Given the description of an element on the screen output the (x, y) to click on. 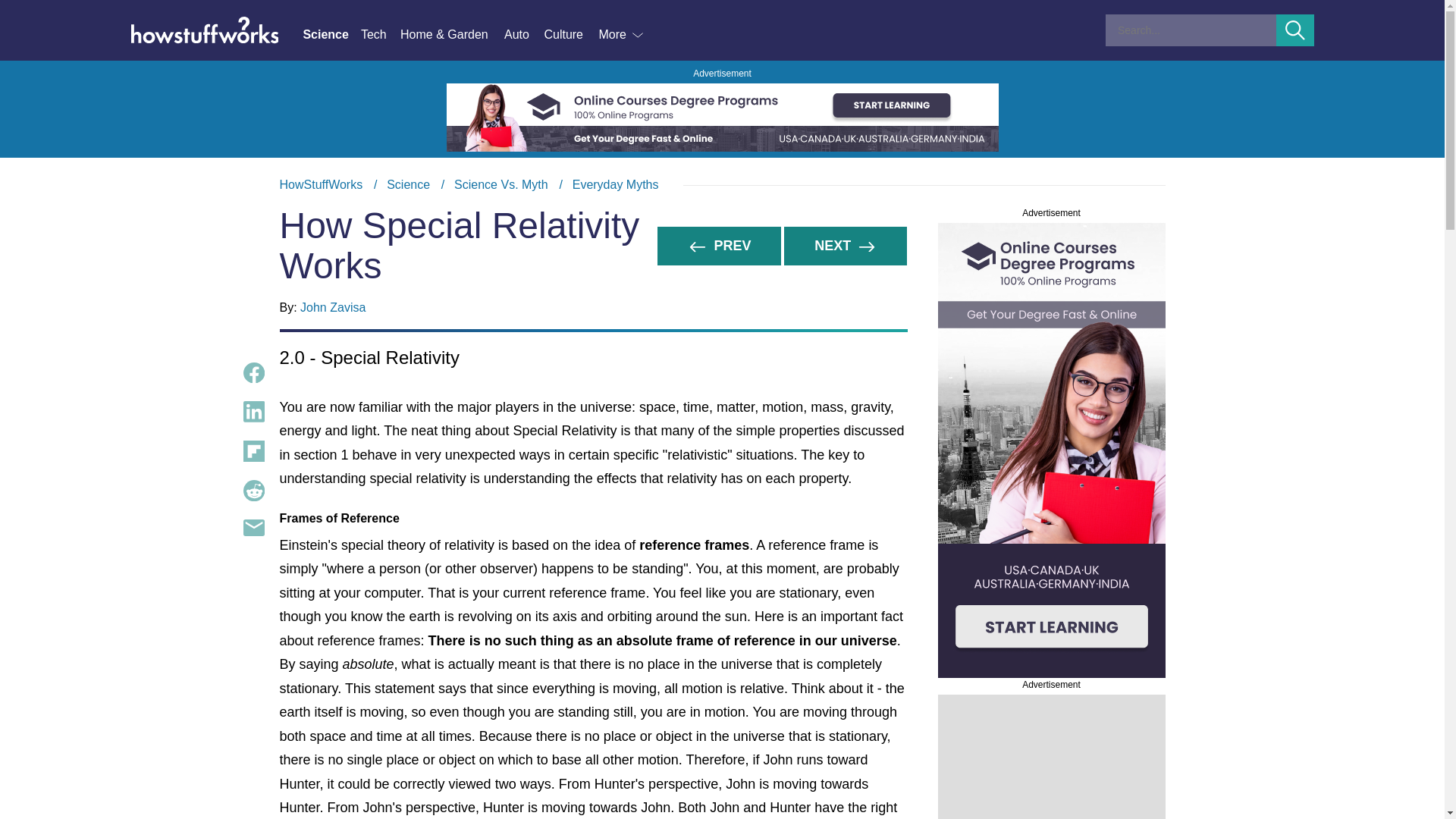
Share Content on LinkedIn (253, 411)
Share Content via Email (253, 527)
HowStuffWorks (721, 185)
More (320, 184)
Share Content on Facebook (621, 34)
Science (253, 372)
Share Content on Reddit (330, 34)
Culture (253, 490)
Share Content on Flipboard (570, 34)
